Given the description of an element on the screen output the (x, y) to click on. 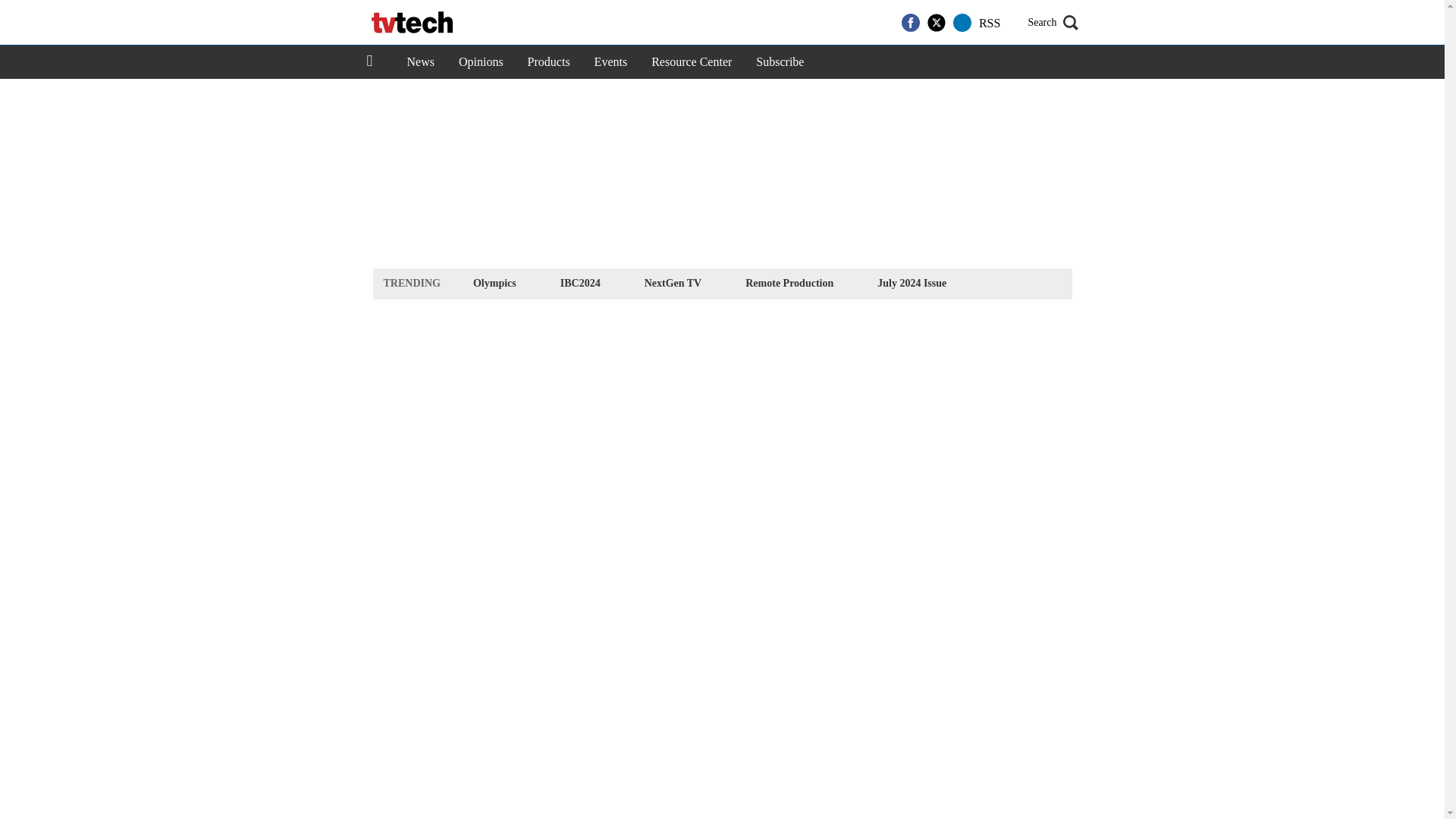
NextGen TV (673, 282)
Events (611, 61)
Remote Production (788, 282)
July 2024 Issue (912, 282)
IBC2024 (579, 282)
Olympics (494, 282)
Products (548, 61)
Opinions (480, 61)
Subscribe (779, 61)
RSS (989, 22)
Resource Center (691, 61)
News (419, 61)
